Given the description of an element on the screen output the (x, y) to click on. 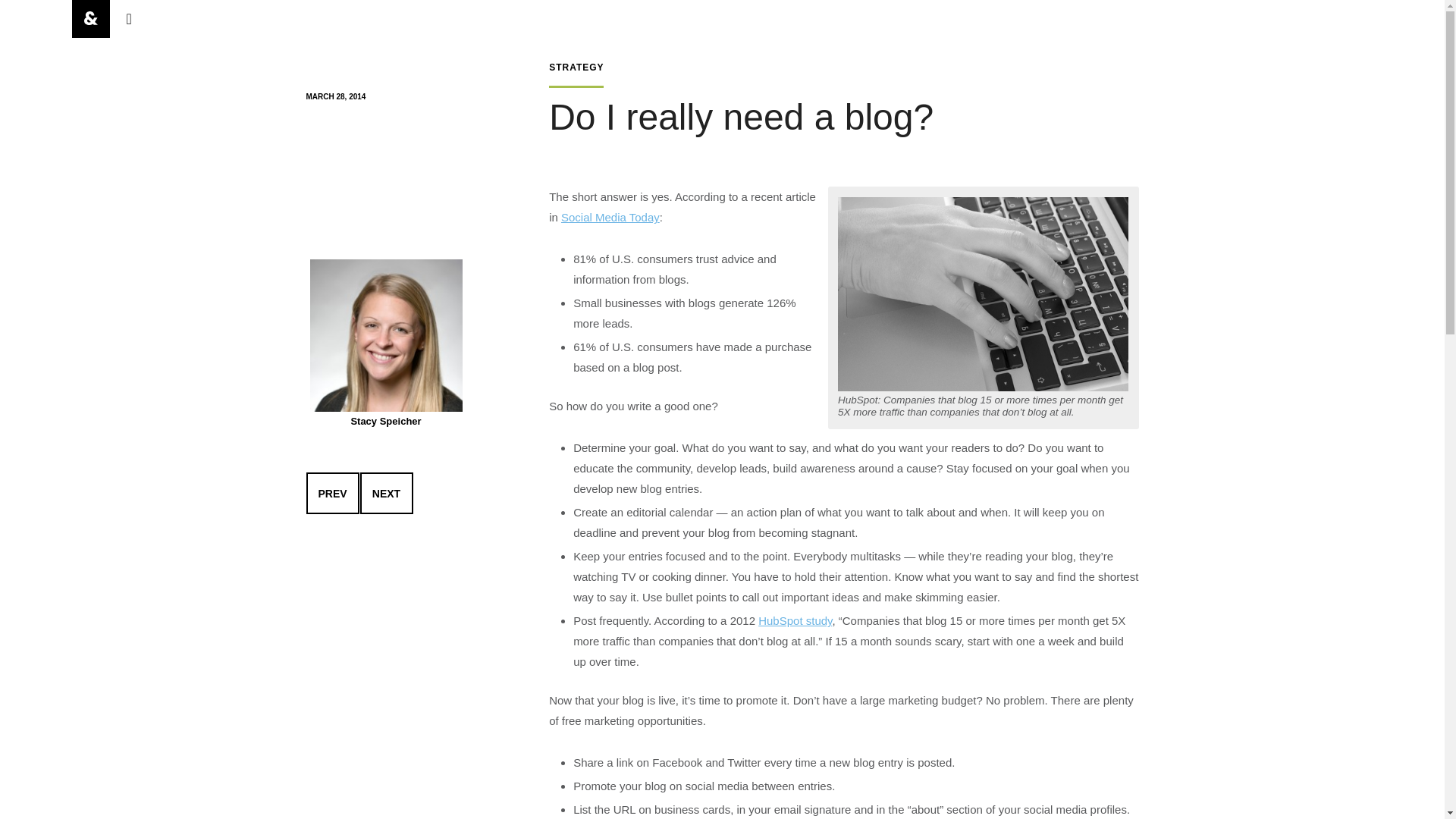
Social Media Today (609, 216)
HubSpot study (794, 620)
